Given the description of an element on the screen output the (x, y) to click on. 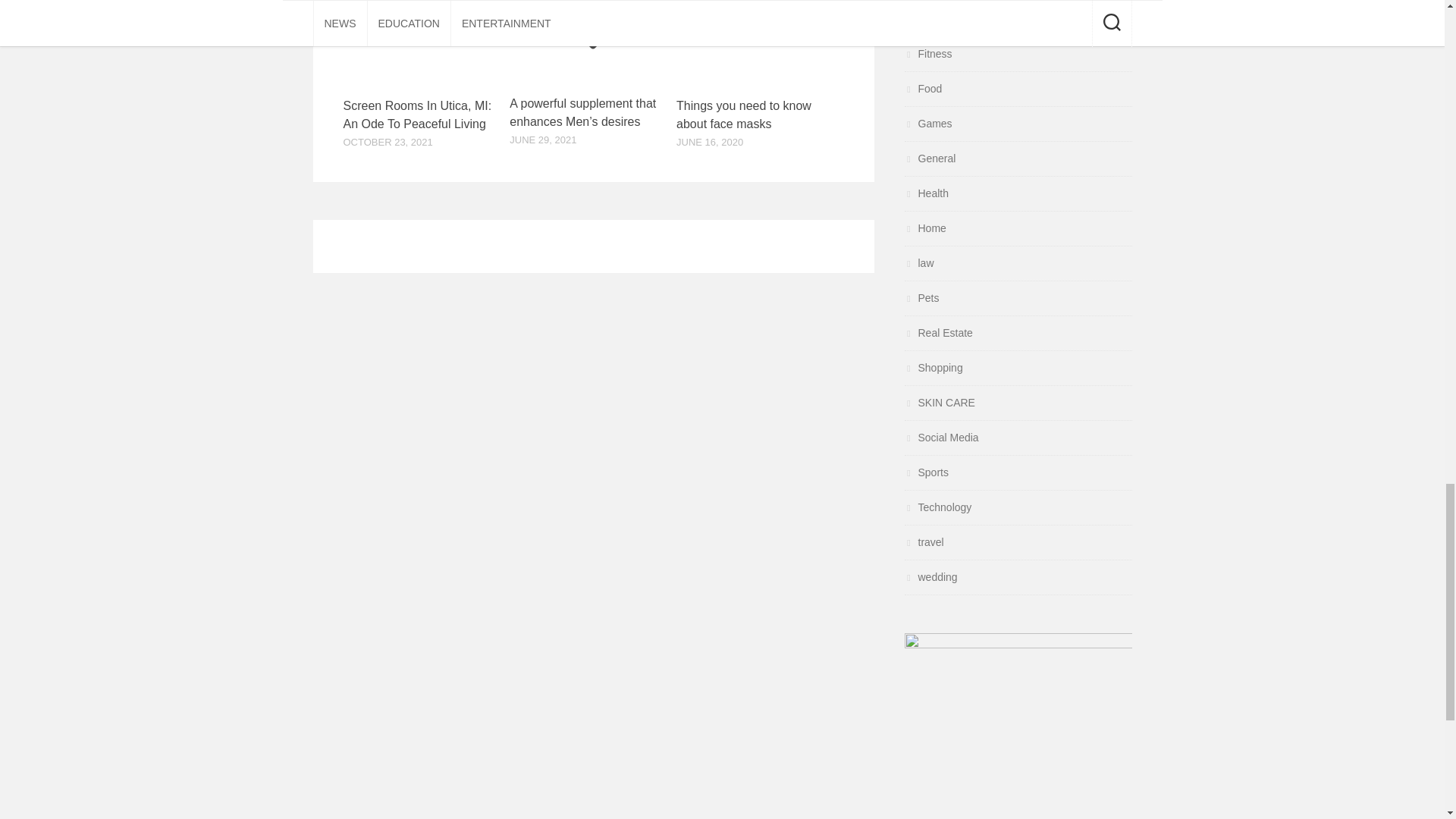
Finance (929, 19)
Things you need to know about face masks (743, 114)
General (929, 158)
Games (928, 123)
Food (923, 88)
Fitness (928, 53)
Screen Rooms In Utica, MI: An Ode To Peaceful Living (417, 114)
